Given the description of an element on the screen output the (x, y) to click on. 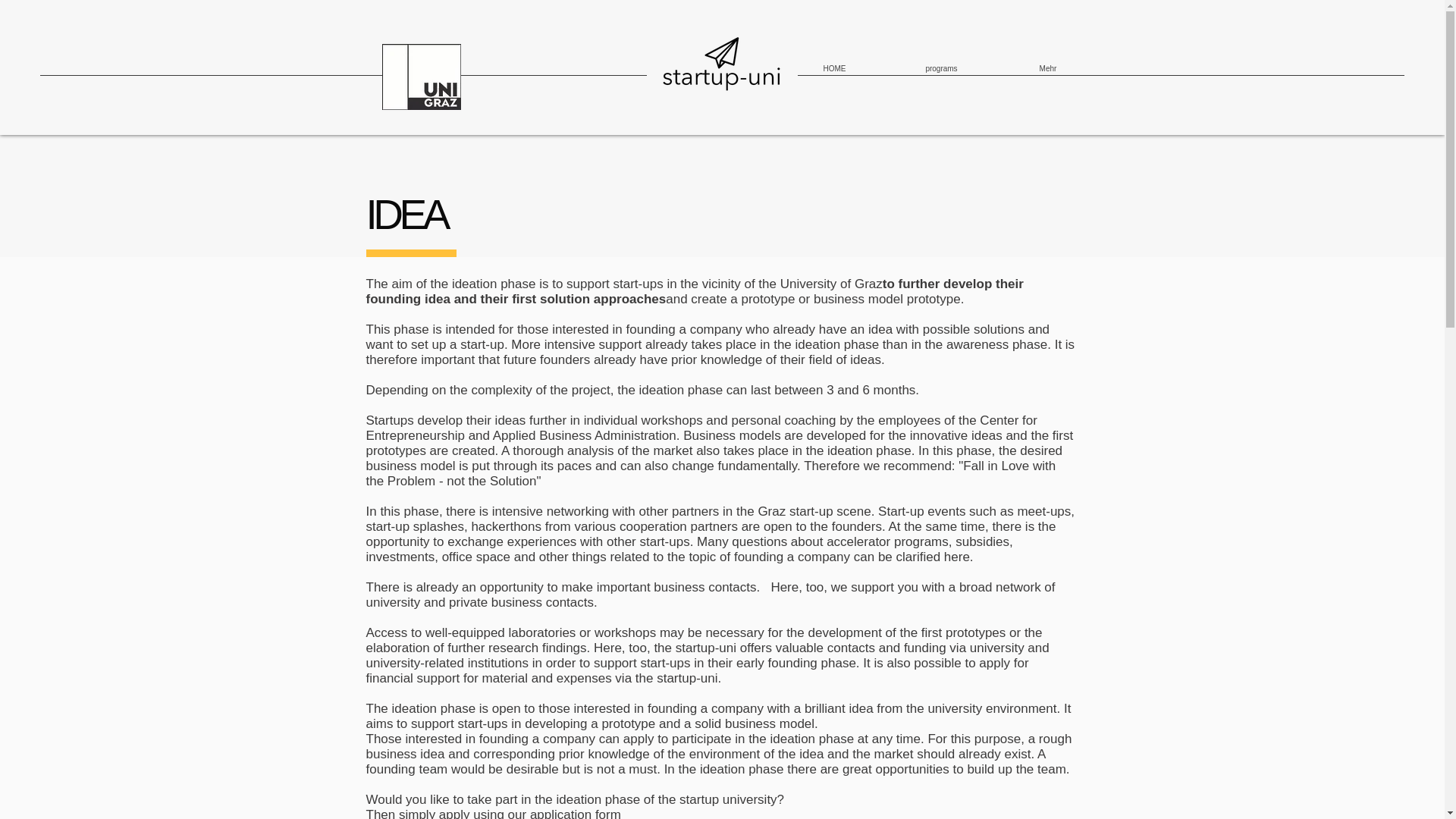
HOME (834, 68)
programs (941, 68)
